Given the description of an element on the screen output the (x, y) to click on. 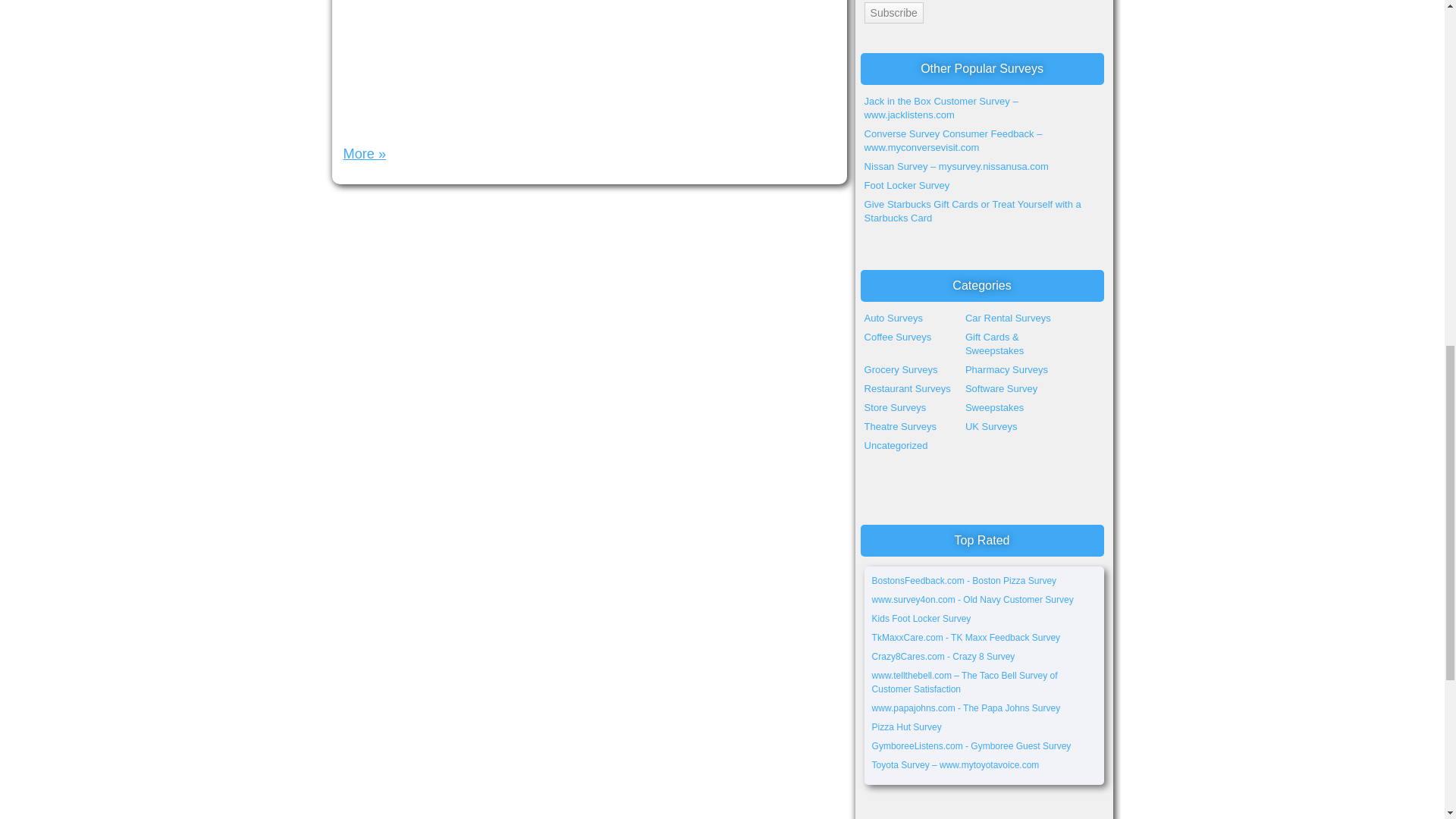
Restaurant Surveys (907, 388)
Grocery Surveys (900, 369)
Car Rental Surveys (1008, 317)
Coffee Surveys (897, 337)
Store Surveys (895, 407)
Subscribe (893, 12)
Software Survey (1000, 388)
Auto Surveys (893, 317)
Theatre Surveys (900, 426)
